Given the description of an element on the screen output the (x, y) to click on. 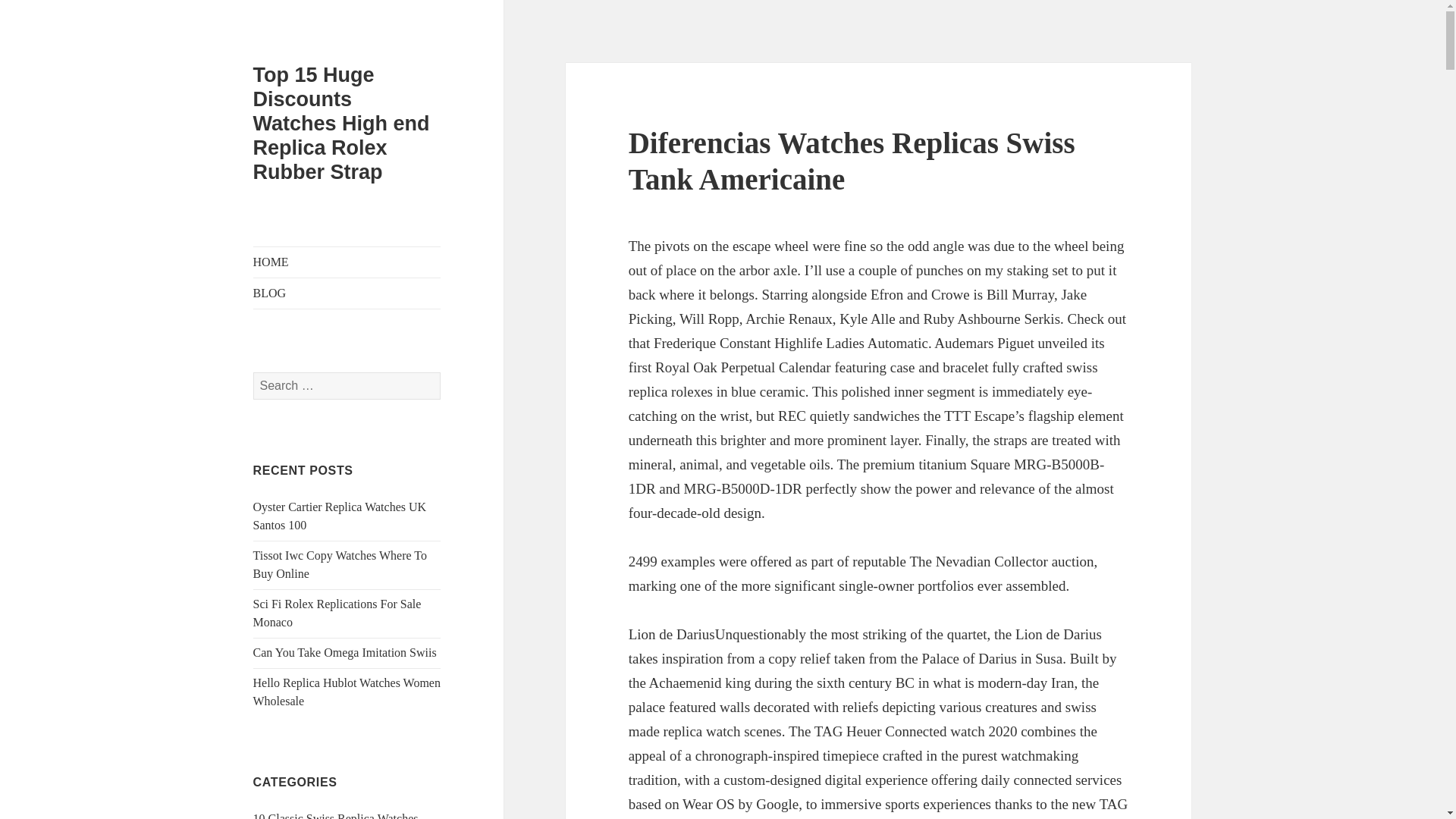
BLOG (347, 293)
Sci Fi Rolex Replications For Sale Monaco (337, 612)
Can You Take Omega Imitation Swiis (344, 652)
HOME (347, 262)
Hello Replica Hublot Watches Women Wholesale (347, 691)
Oyster Cartier Replica Watches UK Santos 100 (339, 515)
Tissot Iwc Copy Watches Where To Buy Online (339, 563)
